Given the description of an element on the screen output the (x, y) to click on. 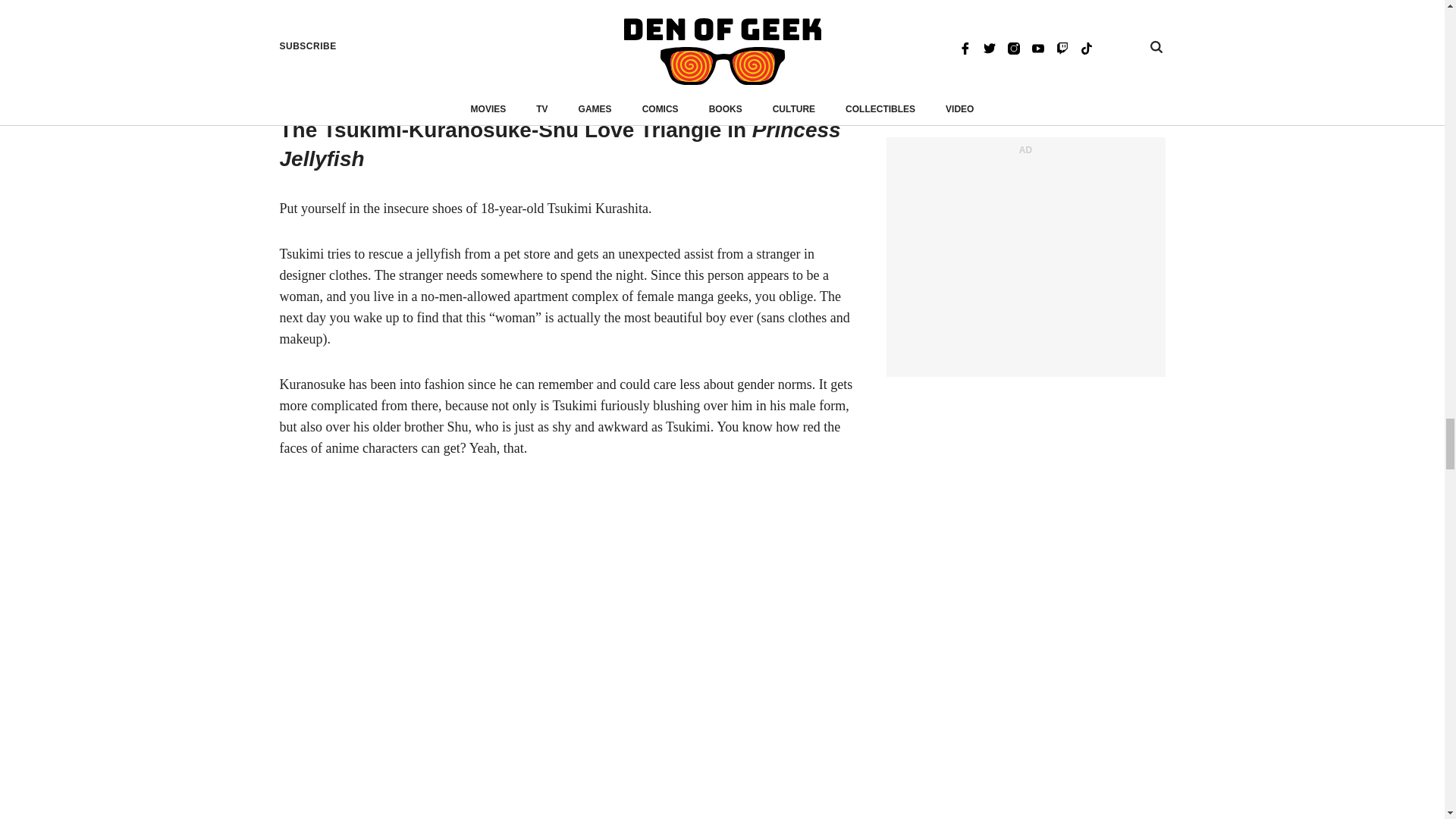
Shu falls for Tsukimi (570, 45)
